Given the description of an element on the screen output the (x, y) to click on. 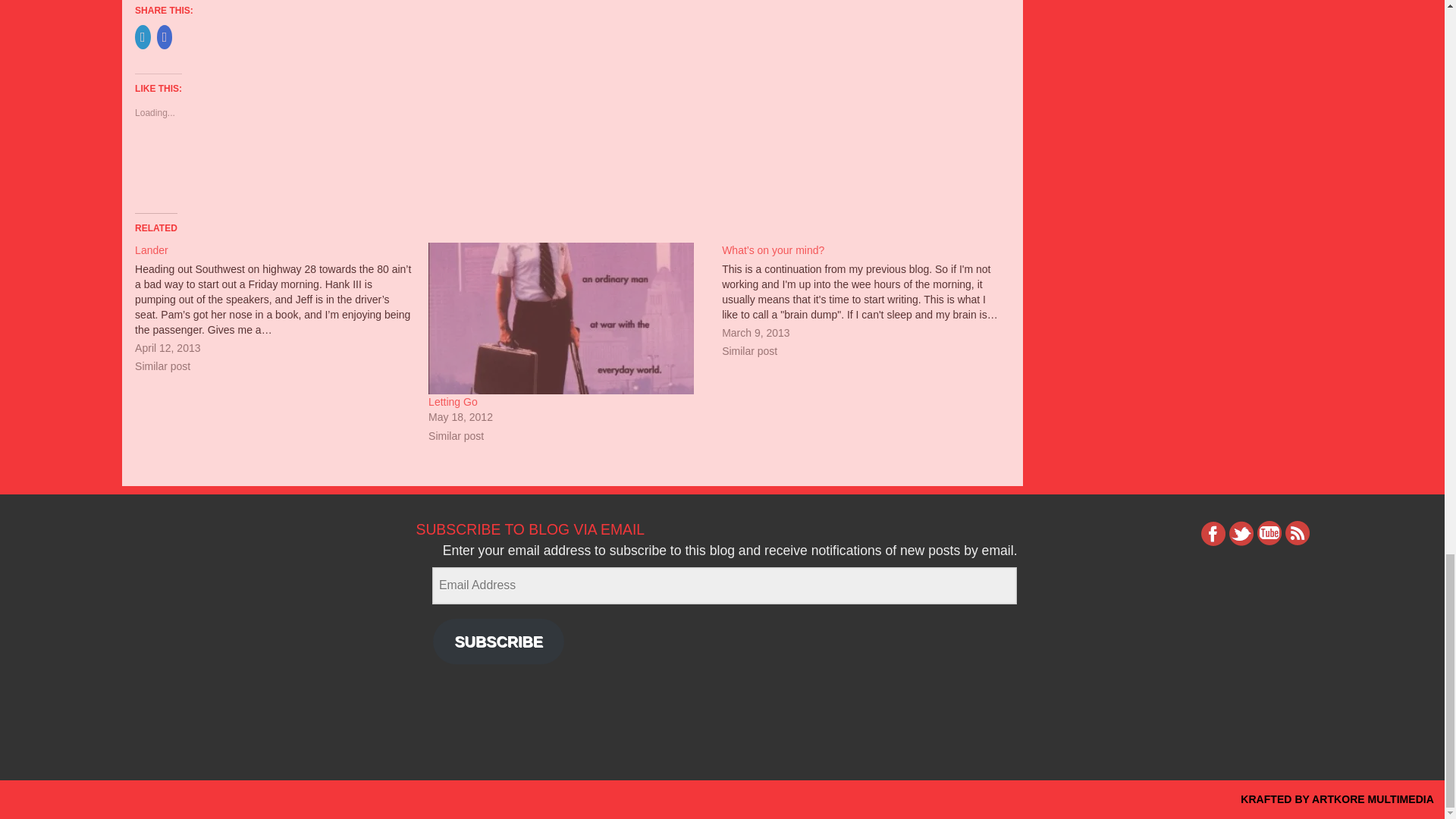
Bookmark our RSS Feed (1296, 533)
Lander (151, 250)
Lander (281, 309)
Lander (151, 250)
KRAFTED BY ARTKORE MULTIMEDIA (1337, 799)
Follow us on Twitter (1240, 533)
Watch us on YouTube (1269, 533)
Letting Go (452, 401)
Bookmark our RSS Feed (1296, 533)
Friend us on Facebook (1213, 533)
